Given the description of an element on the screen output the (x, y) to click on. 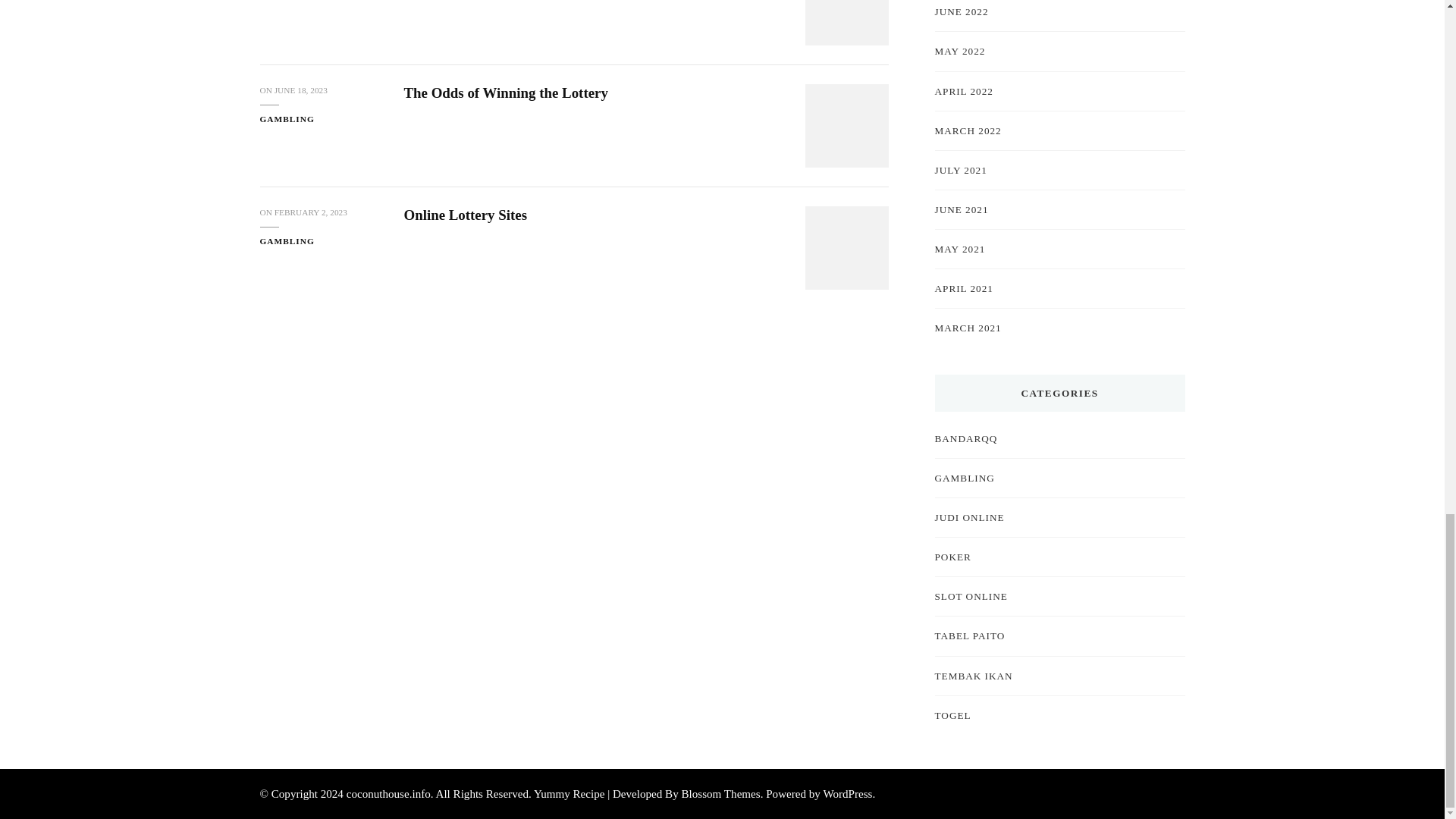
GAMBLING (286, 241)
FEBRUARY 2, 2023 (311, 212)
JUNE 18, 2023 (301, 90)
GAMBLING (286, 119)
The Odds of Winning the Lottery (505, 92)
Online Lottery Sites (465, 214)
GAMBLING (286, 2)
